Given the description of an element on the screen output the (x, y) to click on. 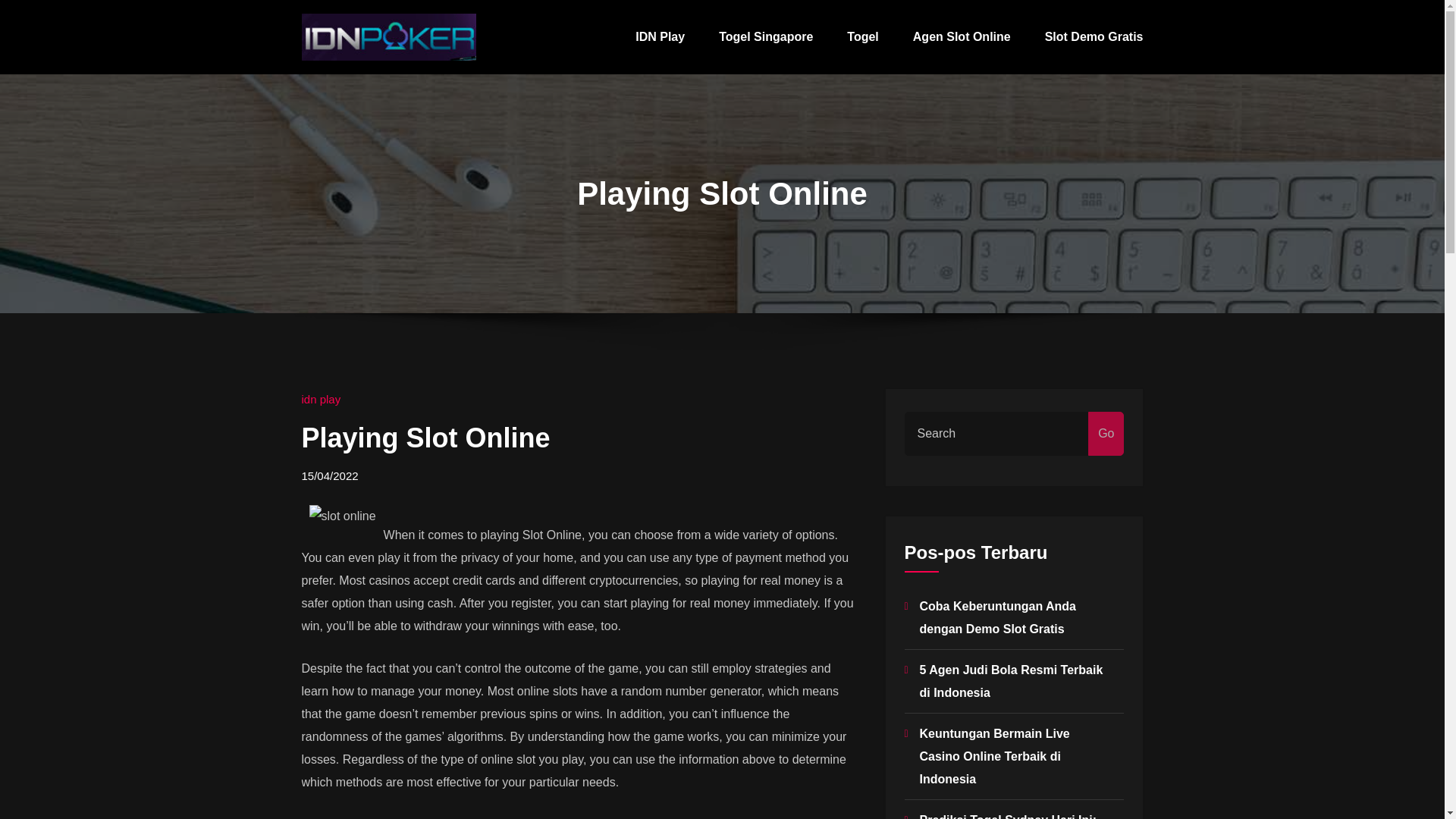
5 Agen Judi Bola Resmi Terbaik di Indonesia (1010, 681)
IDN Play (659, 37)
Agen Slot Online (961, 37)
Togel (862, 37)
idn play (320, 399)
Prediksi Togel Sydney Hari Ini: Apakah Anda Akan Beruntung? (1009, 816)
Coba Keberuntungan Anda dengan Demo Slot Gratis (996, 617)
Slot Demo Gratis (1093, 37)
Keuntungan Bermain Live Casino Online Terbaik di Indonesia (993, 756)
Togel Singapore (765, 37)
